Given the description of an element on the screen output the (x, y) to click on. 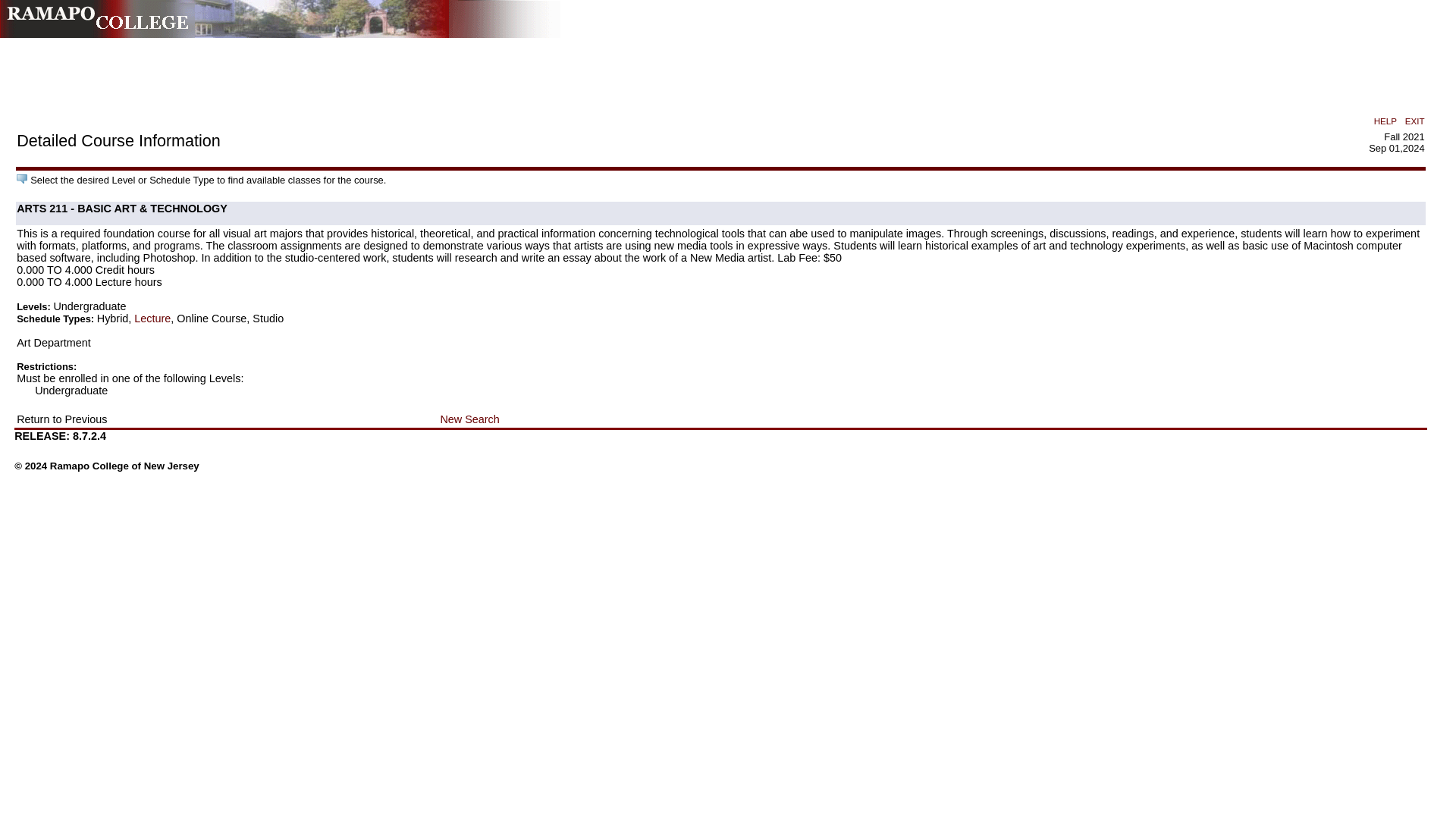
Return to Previous (61, 419)
EXIT (1415, 121)
HELP (1385, 121)
Information (21, 178)
New Search (469, 419)
Lecture (151, 318)
